Given the description of an element on the screen output the (x, y) to click on. 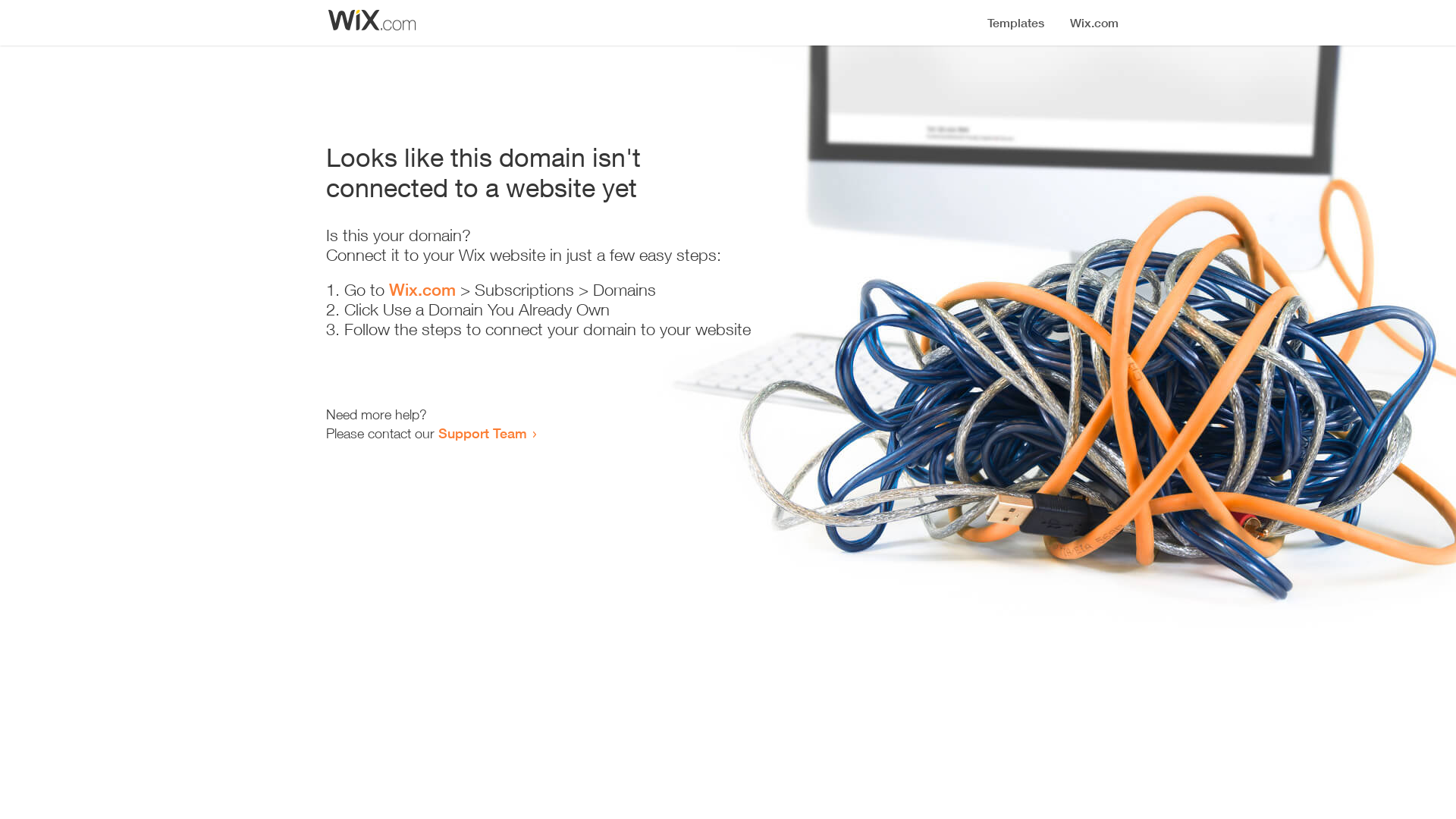
Support Team Element type: text (482, 432)
Wix.com Element type: text (422, 289)
